Given the description of an element on the screen output the (x, y) to click on. 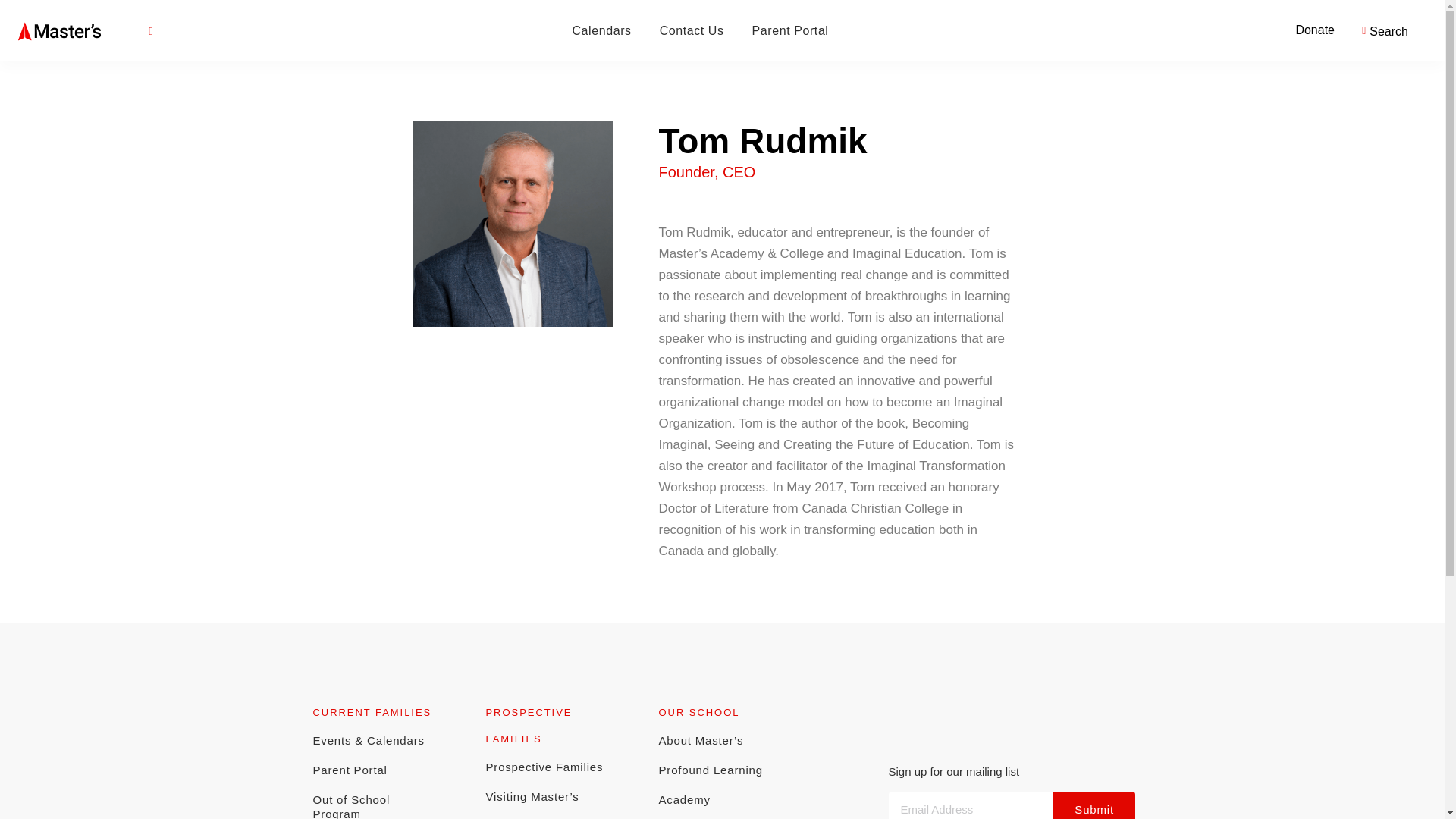
Donate (1315, 30)
Parent Portal (790, 30)
Prospective Families (548, 767)
Admissions (548, 815)
Calendars (600, 30)
Out of School Program (376, 801)
Academy (722, 799)
Profound Learning (722, 769)
College (722, 816)
Contact Us (692, 30)
